Given the description of an element on the screen output the (x, y) to click on. 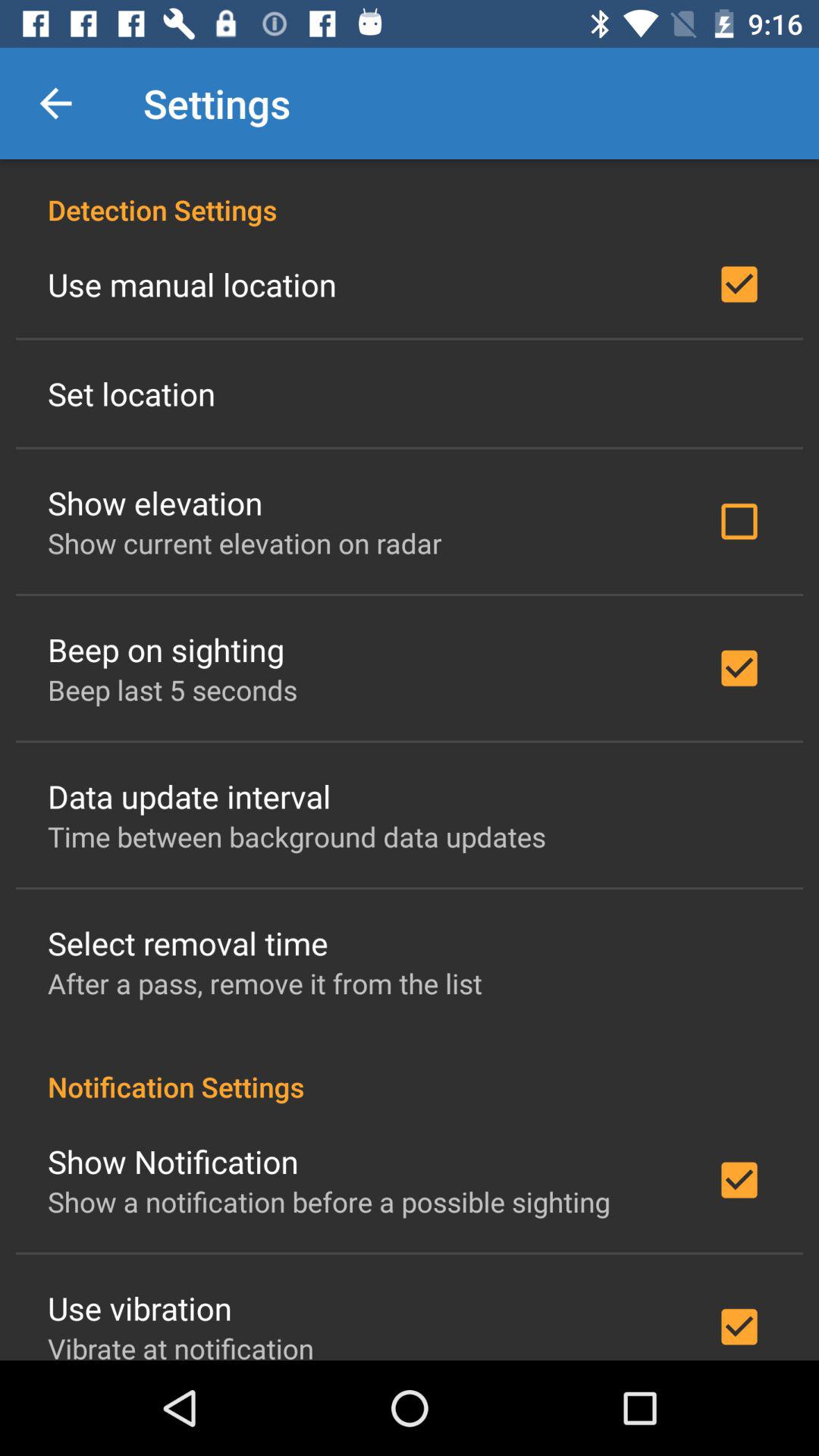
turn on the item below the after a pass icon (409, 1070)
